Given the description of an element on the screen output the (x, y) to click on. 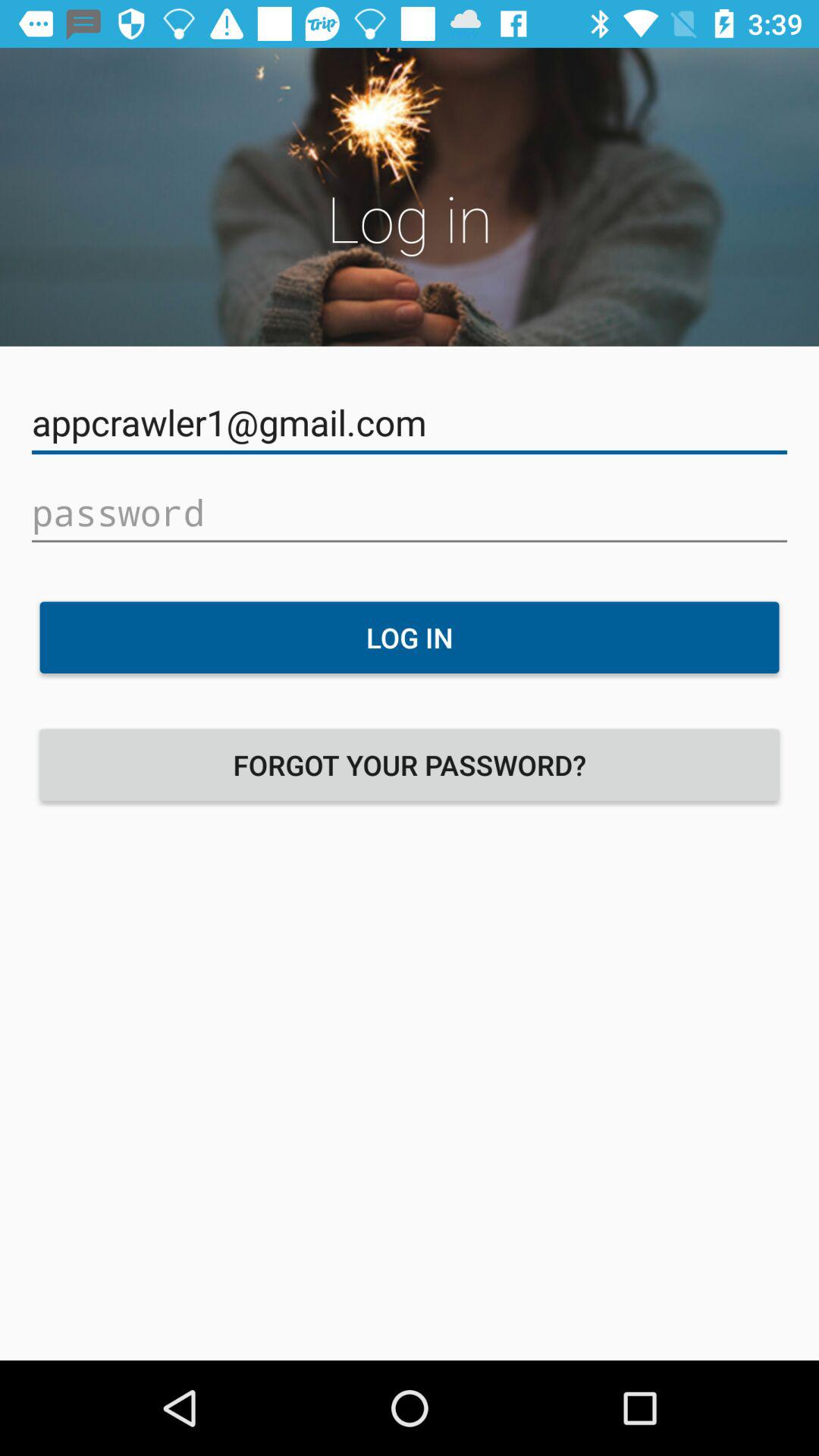
turn on appcrawler1@gmail.com (409, 423)
